Given the description of an element on the screen output the (x, y) to click on. 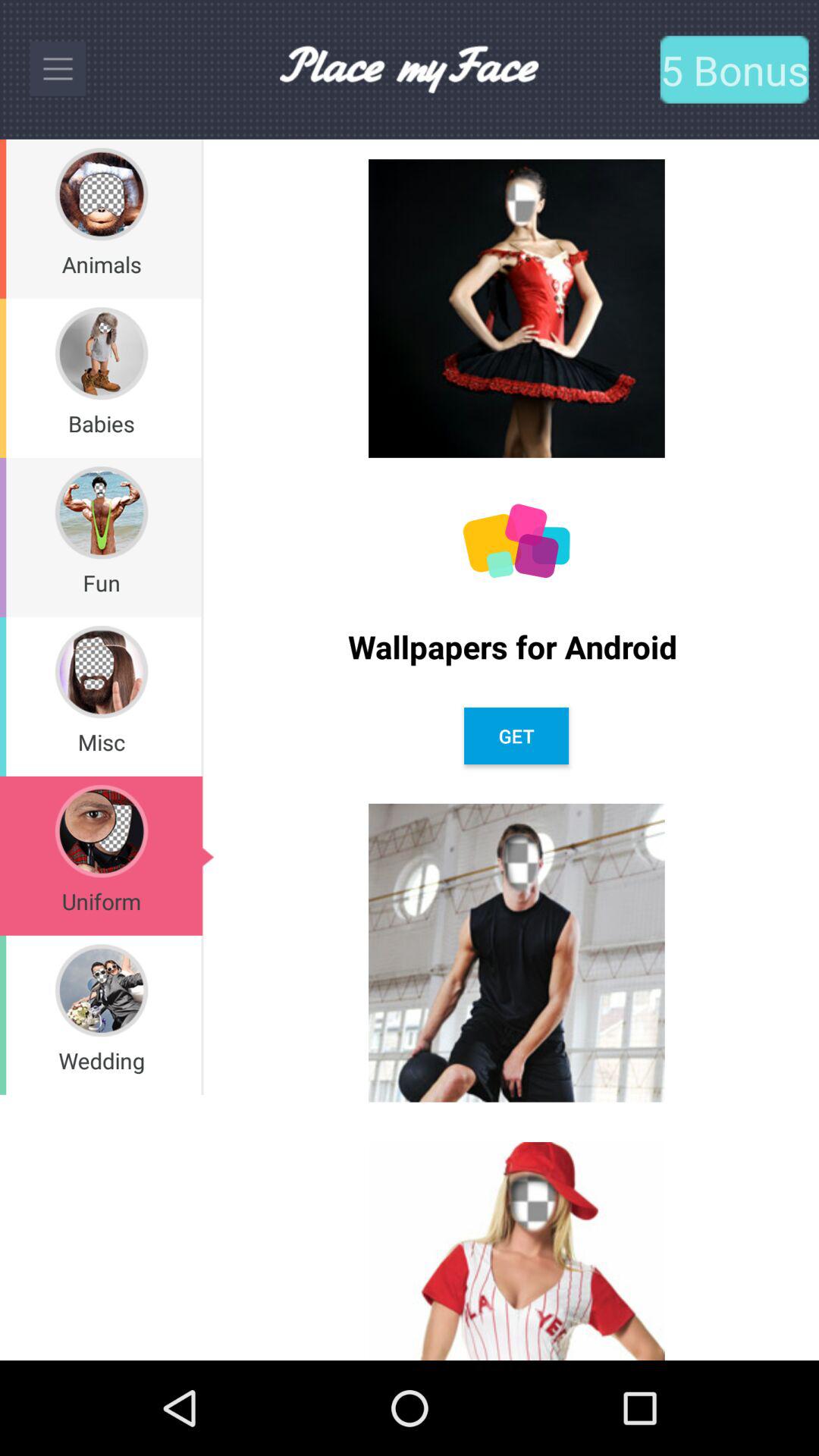
swipe until the misc (101, 741)
